Given the description of an element on the screen output the (x, y) to click on. 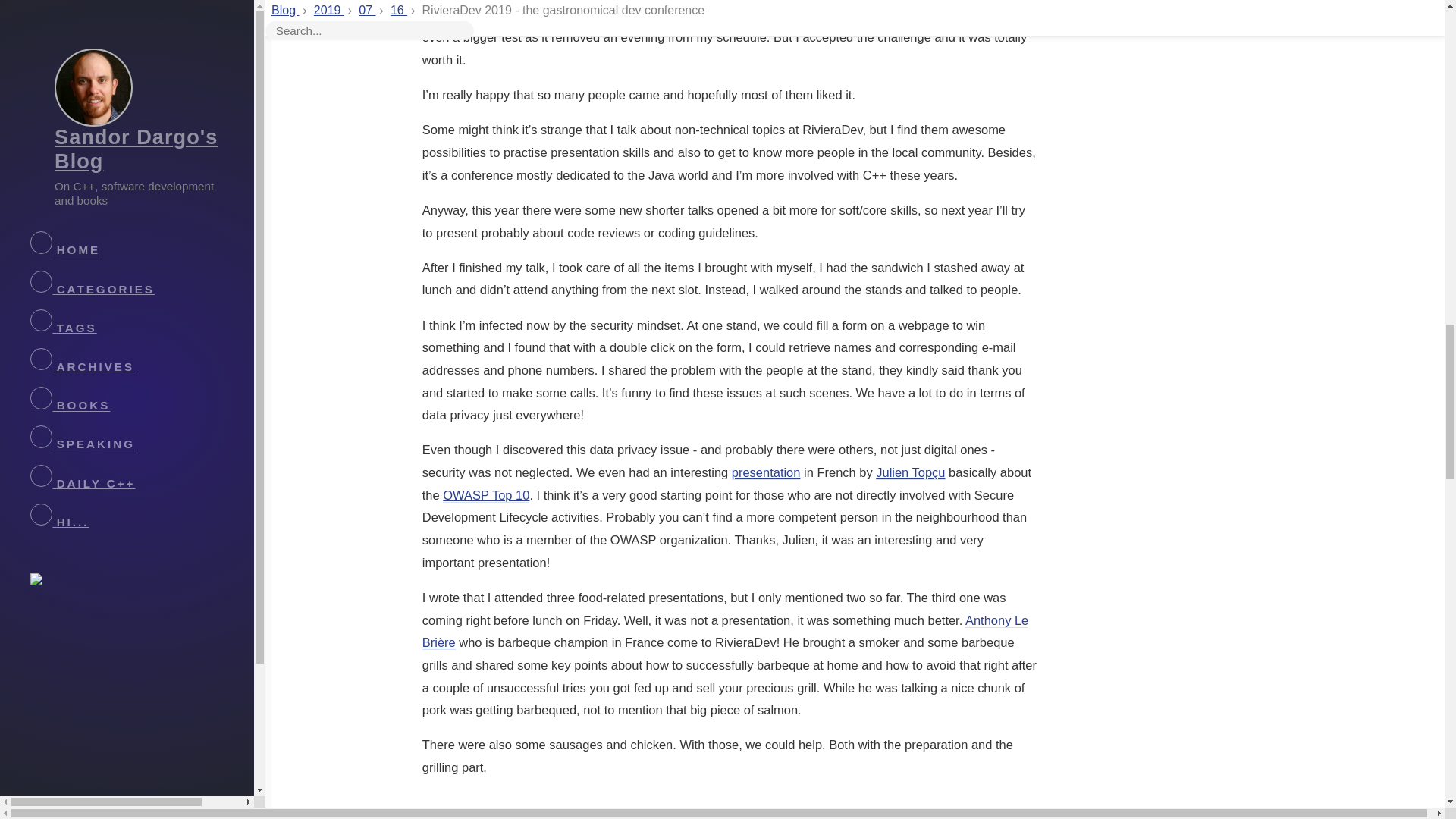
OWASP Top 10 (485, 495)
presentation (766, 472)
